Given the description of an element on the screen output the (x, y) to click on. 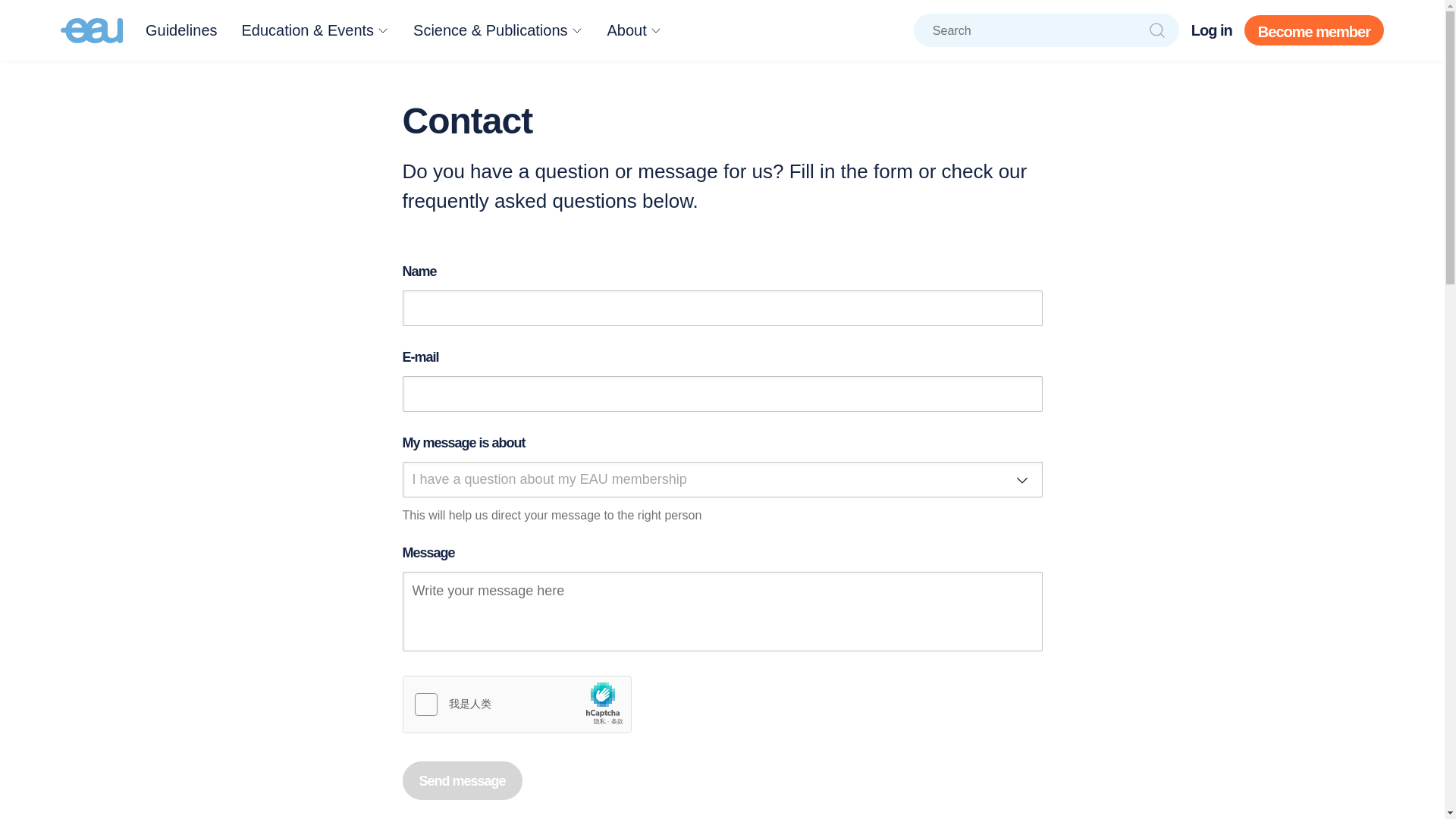
Send message (461, 780)
Log in (1211, 29)
Become member (1314, 30)
Guidelines (180, 29)
